Given the description of an element on the screen output the (x, y) to click on. 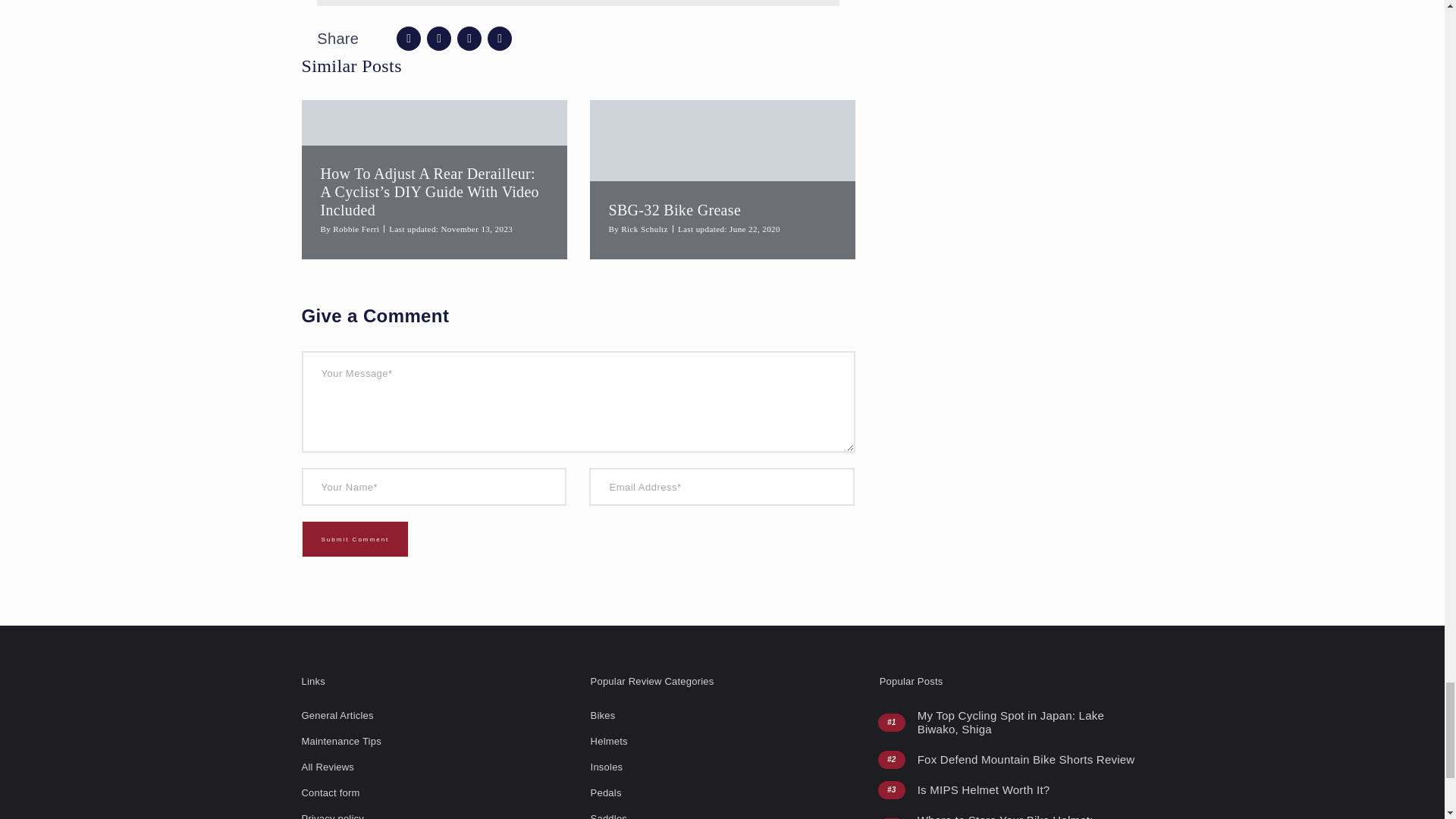
Posts by Robbie Ferri (355, 228)
Posts by Rick Schultz (644, 228)
SBG-32 Bike Grease (722, 179)
SBG-32 Bike Grease (674, 209)
Submit Comment (355, 538)
